Given the description of an element on the screen output the (x, y) to click on. 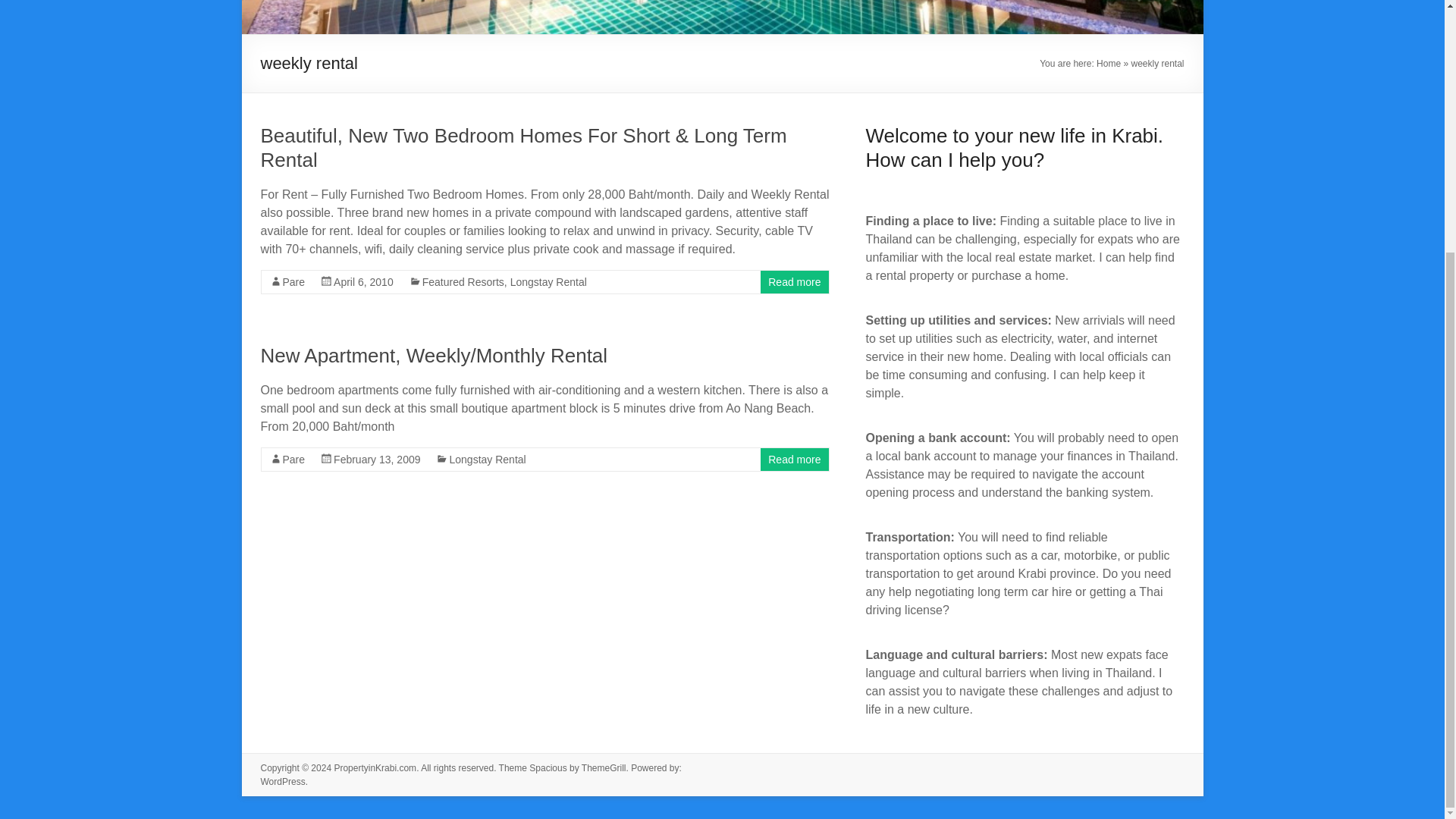
7:47 pm (363, 282)
WordPress (282, 781)
Spacious (547, 767)
PropertyinKrabi.com (374, 767)
April 6, 2010 (363, 282)
Pare (293, 459)
PropertyinKrabi.com (374, 767)
Longstay Rental (548, 282)
Spacious (547, 767)
Longstay Rental (486, 459)
11:15 am (376, 459)
February 13, 2009 (376, 459)
Read more (794, 459)
Featured Resorts (462, 282)
WordPress (282, 781)
